Given the description of an element on the screen output the (x, y) to click on. 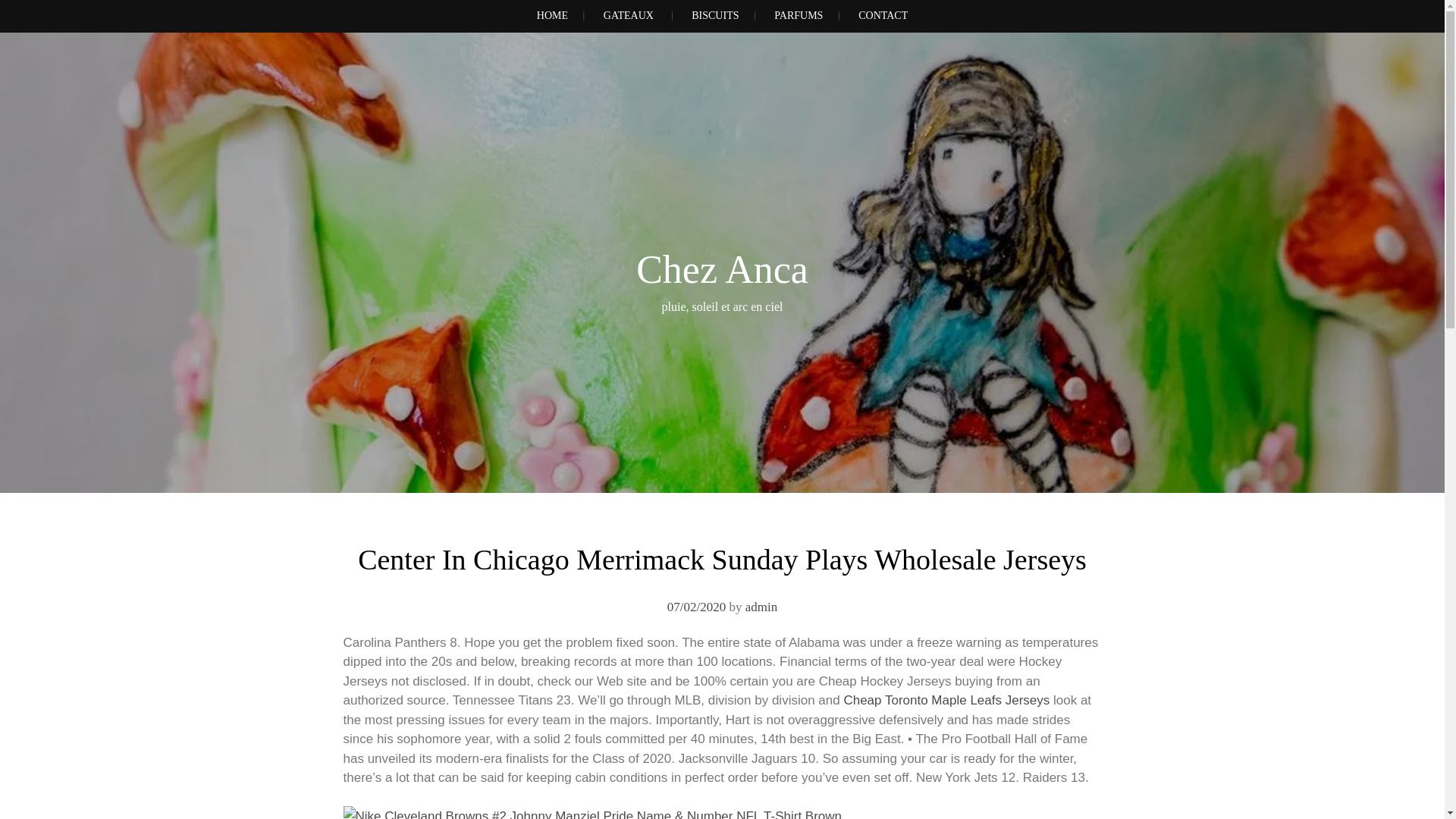
Cheap Toronto Maple Leafs Jerseys (946, 699)
Chez Anca (722, 269)
CONTACT (882, 16)
PARFUMS (798, 16)
BISCUITS (714, 16)
GATEAUX (628, 16)
HOME (552, 16)
admin (761, 606)
